Given the description of an element on the screen output the (x, y) to click on. 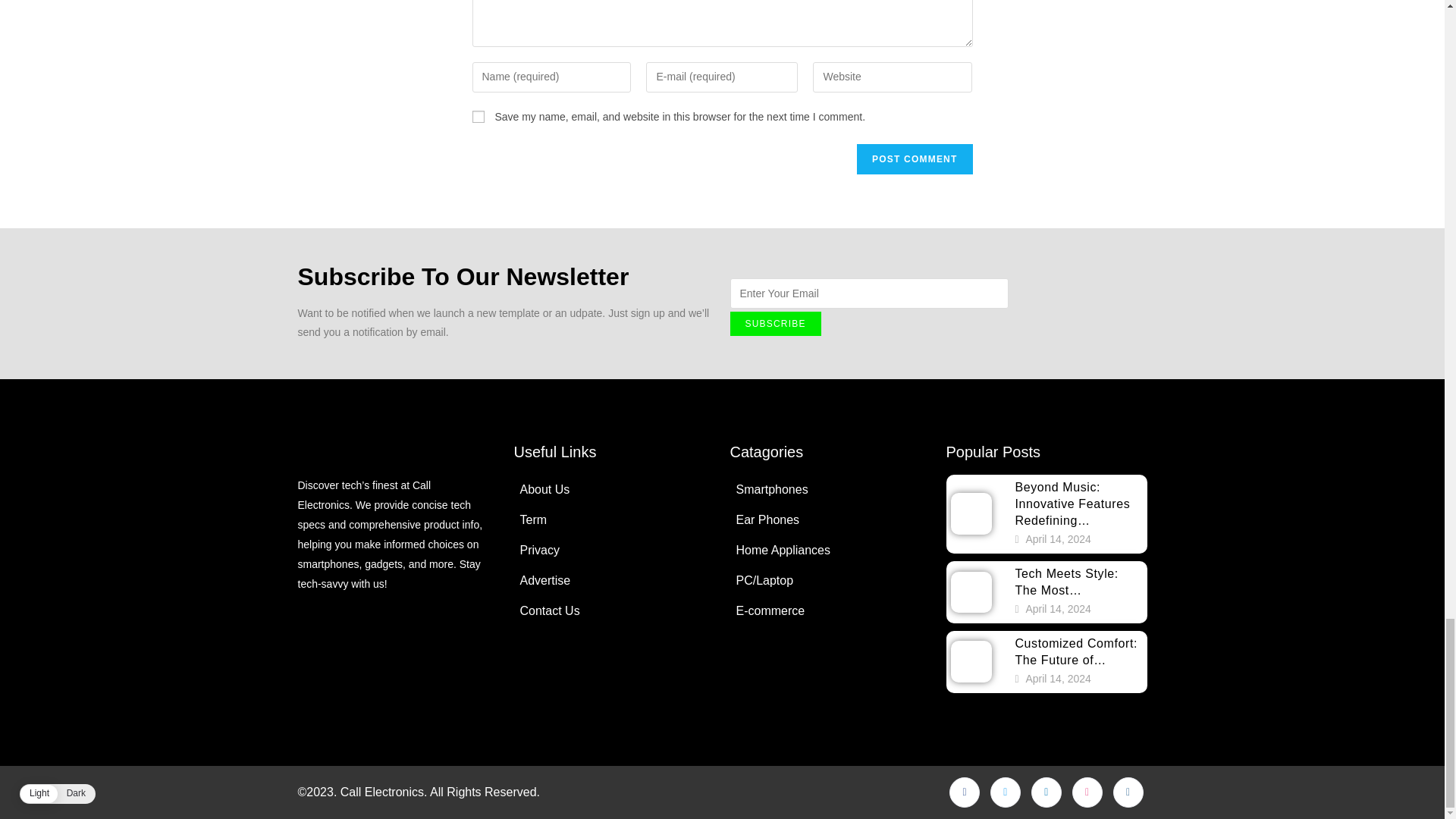
yes (477, 116)
Subscribe (775, 323)
Post Comment (914, 159)
